Given the description of an element on the screen output the (x, y) to click on. 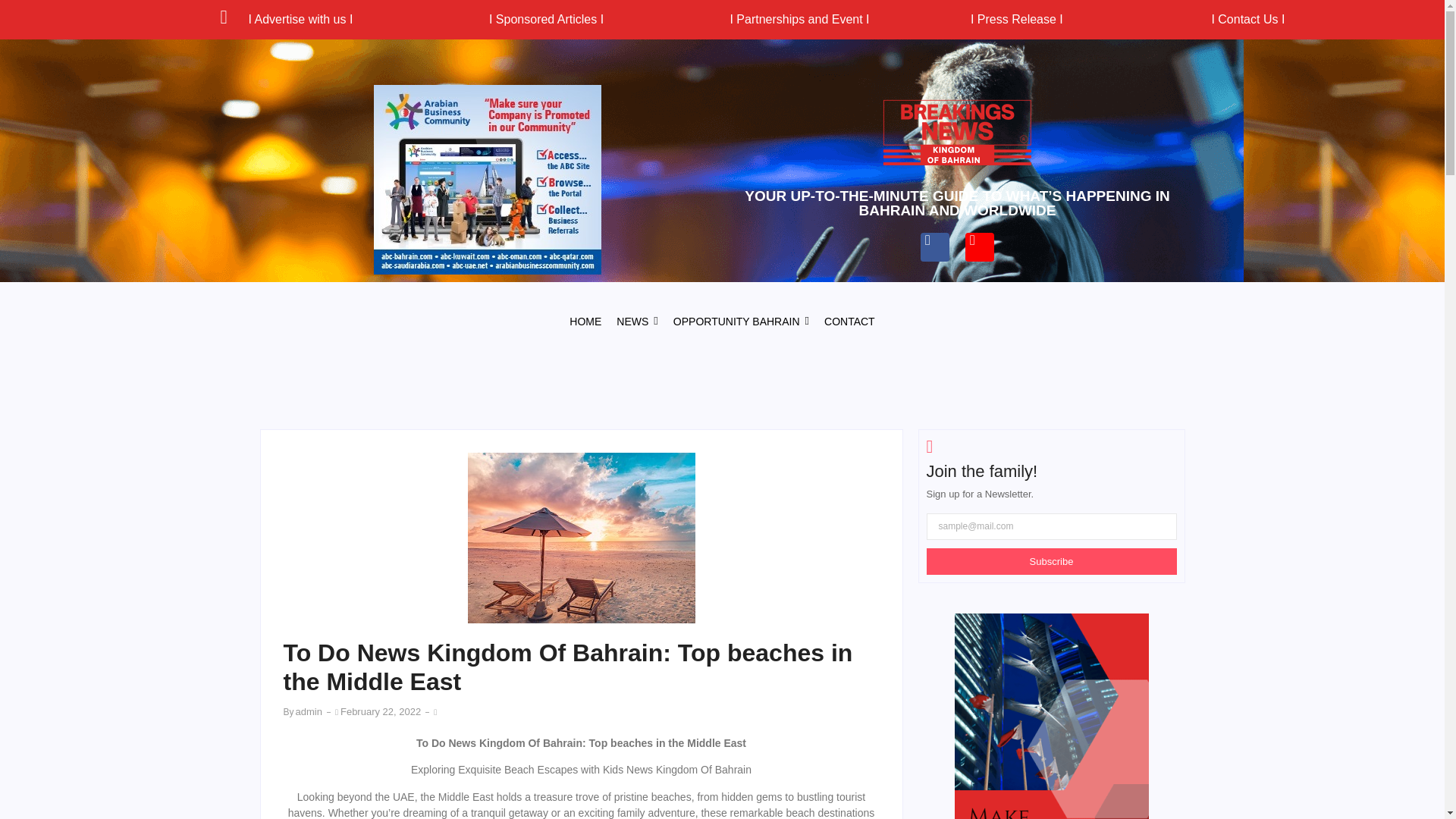
I Partnerships and Event I (799, 19)
CONTACT (849, 321)
I Sponsored Articles I (546, 19)
Banner Breaking-news-kingdom-of-bahrain.com 6 (1050, 715)
NEWS (636, 321)
I Contact Us I (1247, 19)
OPPORTUNITY BAHRAIN (740, 321)
I Advertise with us I (299, 19)
HOME (585, 321)
I Press Release I (1016, 19)
